Given the description of an element on the screen output the (x, y) to click on. 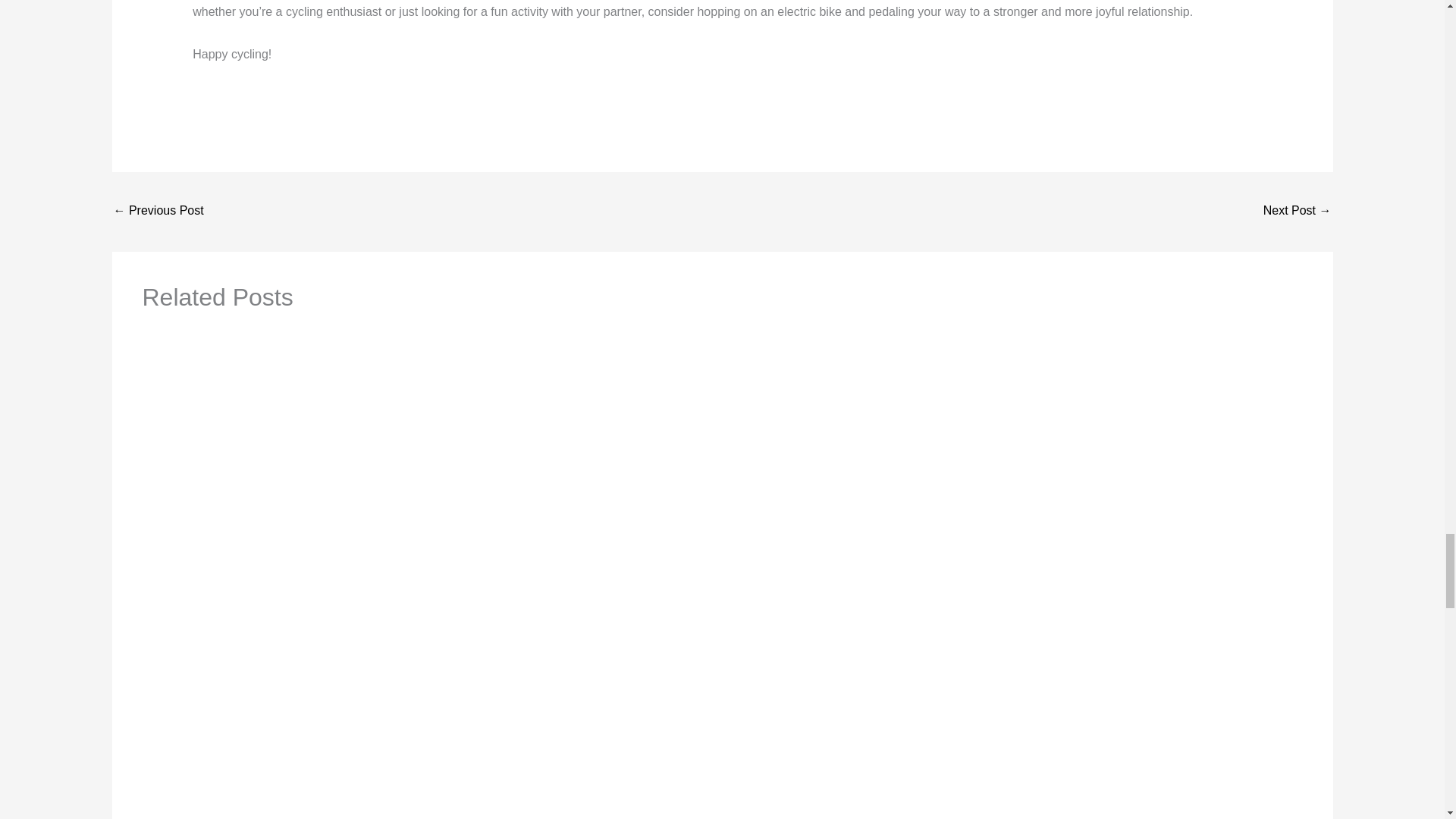
Lockable Bike Basket (158, 212)
